Given the description of an element on the screen output the (x, y) to click on. 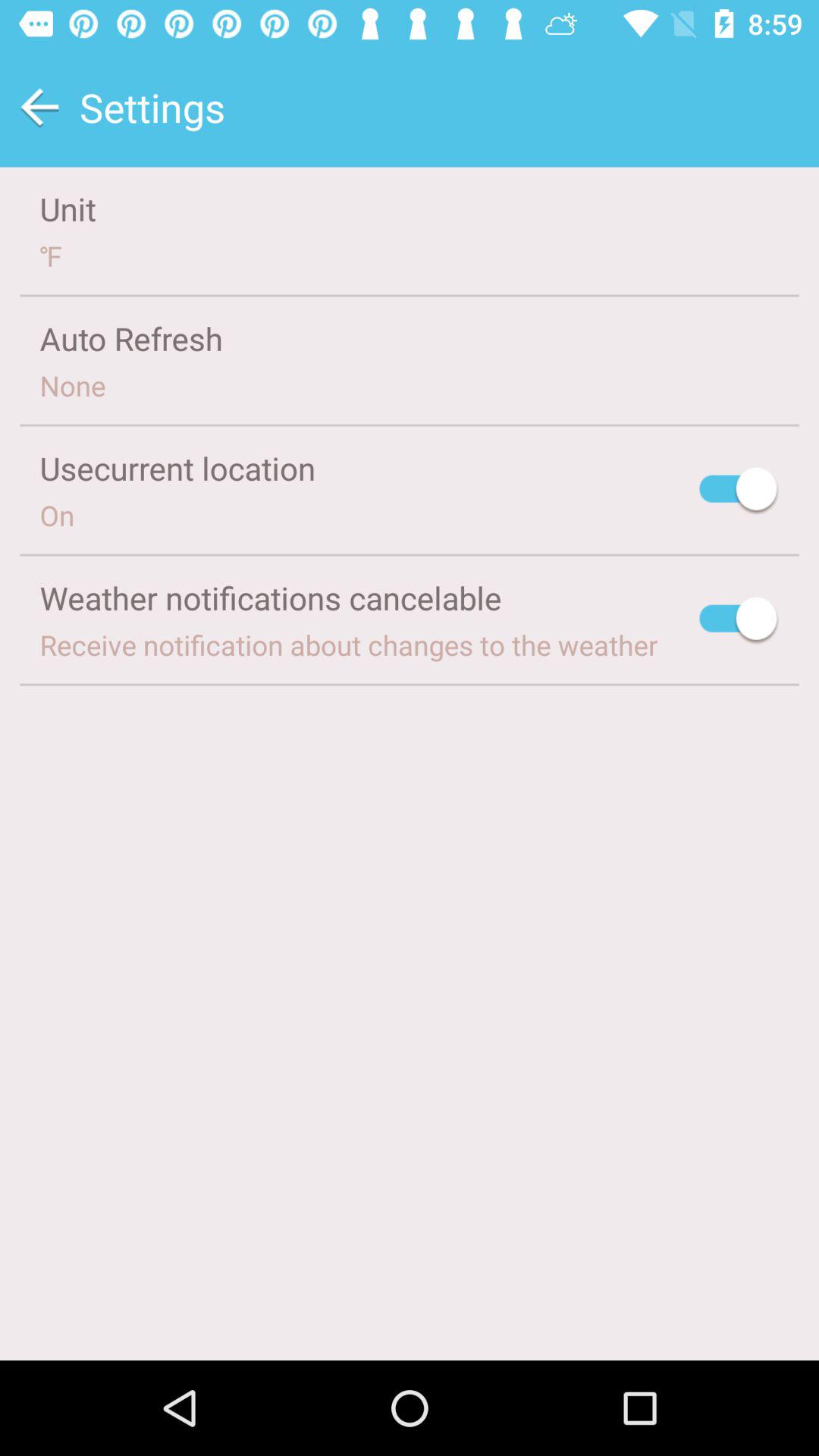
press the icon next to usecurrent location icon (739, 491)
